Given the description of an element on the screen output the (x, y) to click on. 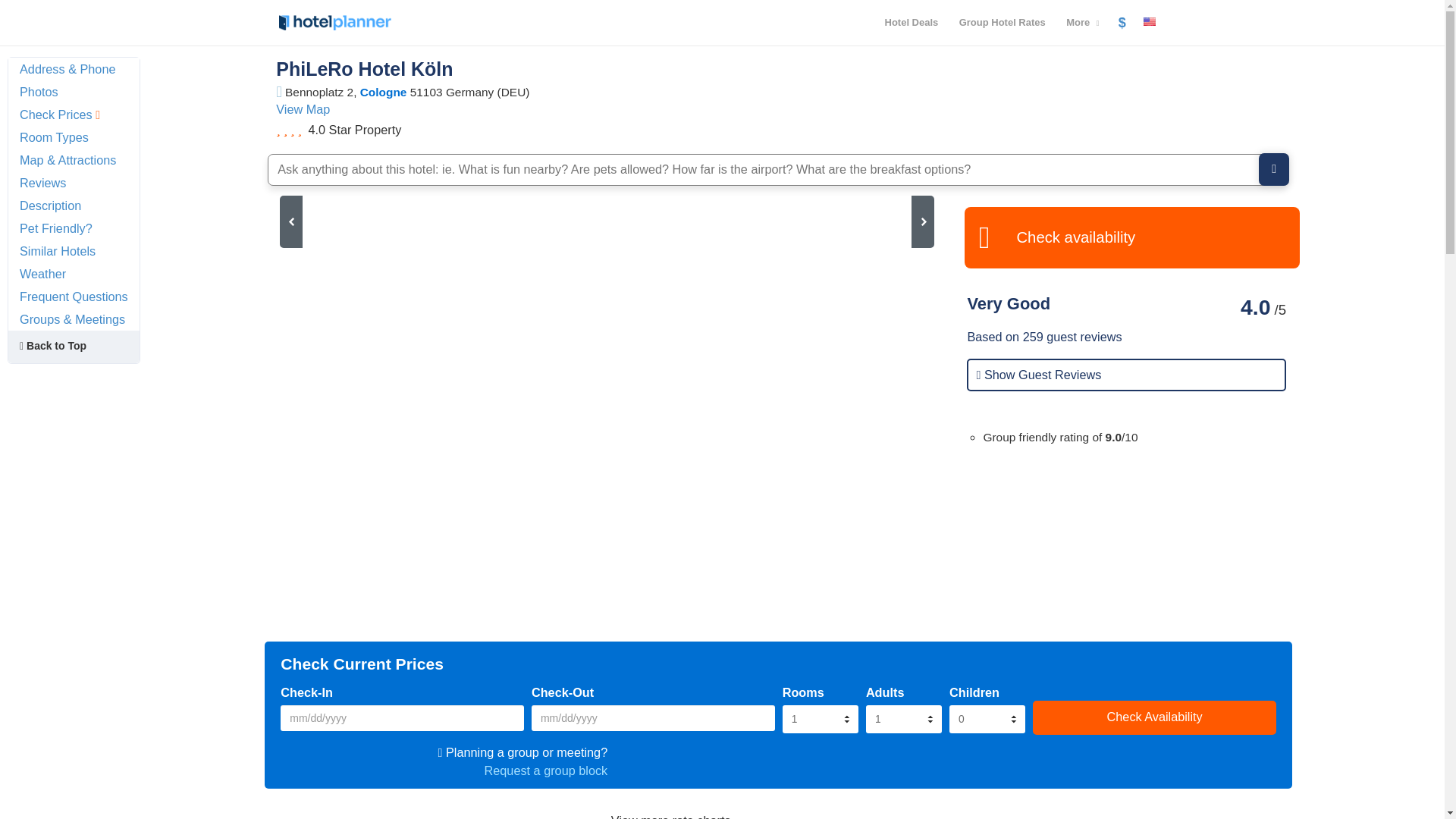
Cologne (383, 91)
Group Hotel Rates (1002, 22)
More (1082, 22)
Hotel Deals (911, 22)
View Map (303, 109)
